Given the description of an element on the screen output the (x, y) to click on. 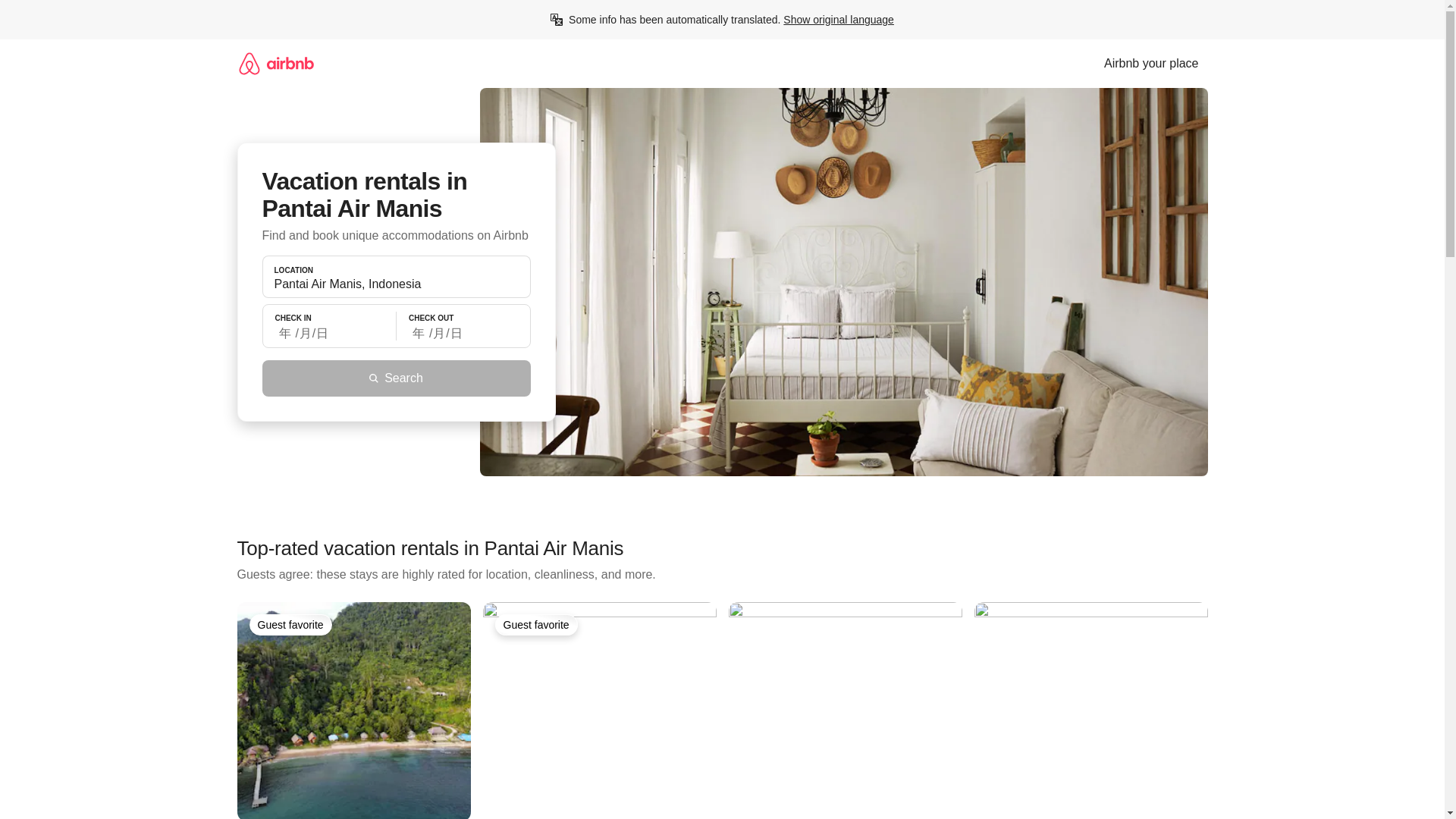
Search (396, 378)
Pantai Air Manis, Indonesia (396, 283)
Airbnb your place (1151, 62)
Show original language (838, 19)
